Given the description of an element on the screen output the (x, y) to click on. 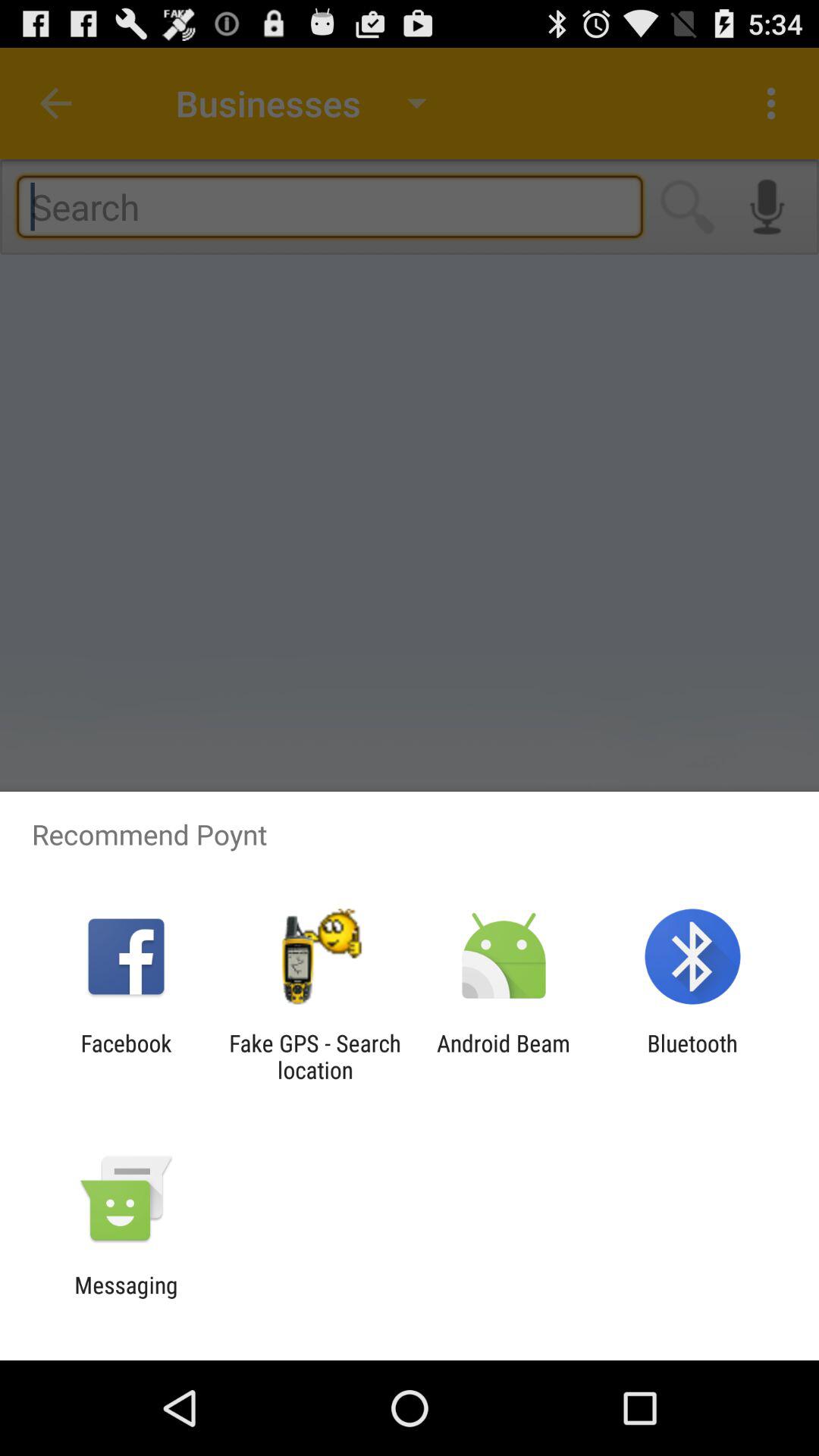
press the app next to bluetooth icon (503, 1056)
